Given the description of an element on the screen output the (x, y) to click on. 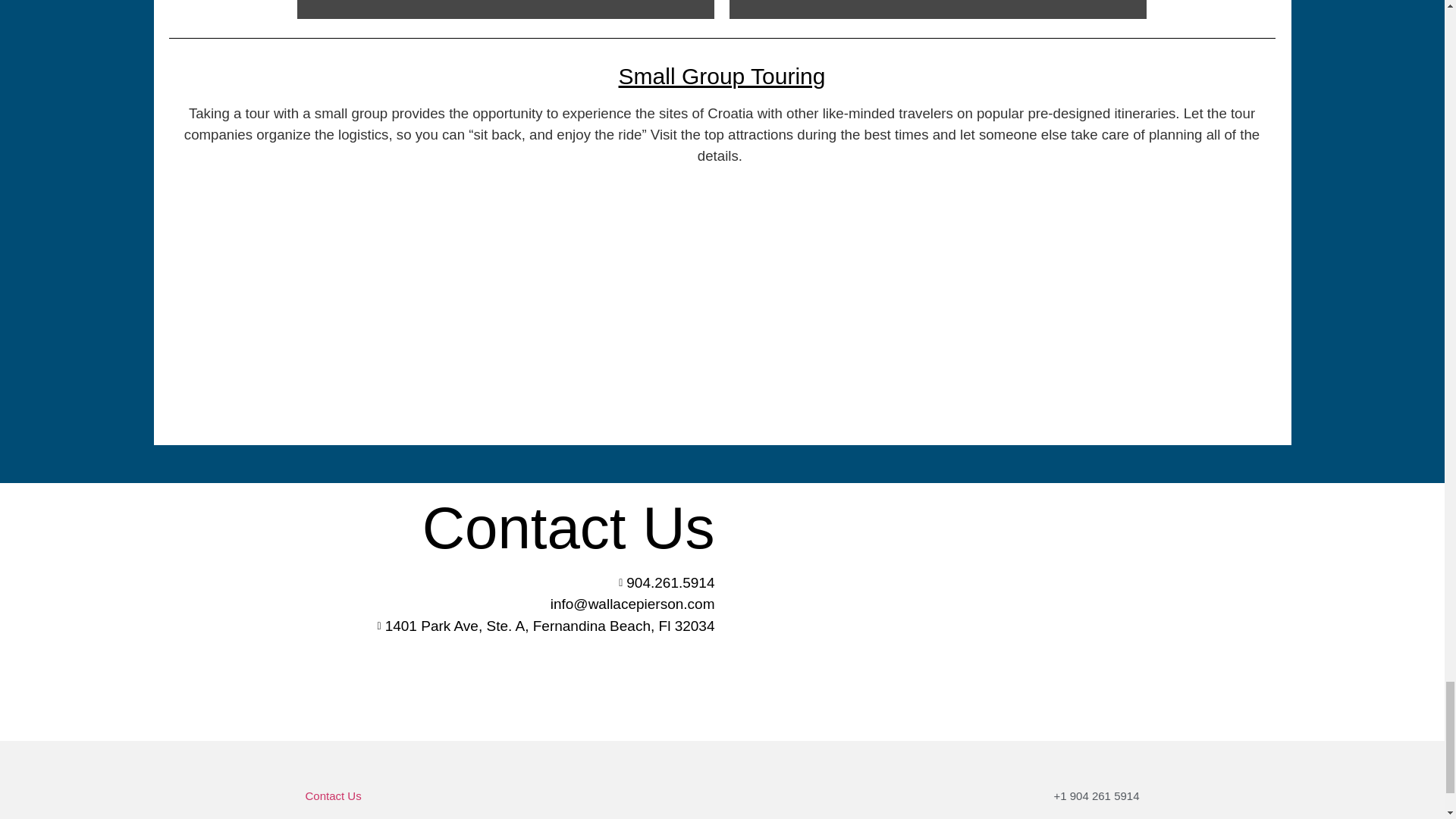
1401 Park Ave, Suite , Fernandina, FL 32034 (933, 611)
